Given the description of an element on the screen output the (x, y) to click on. 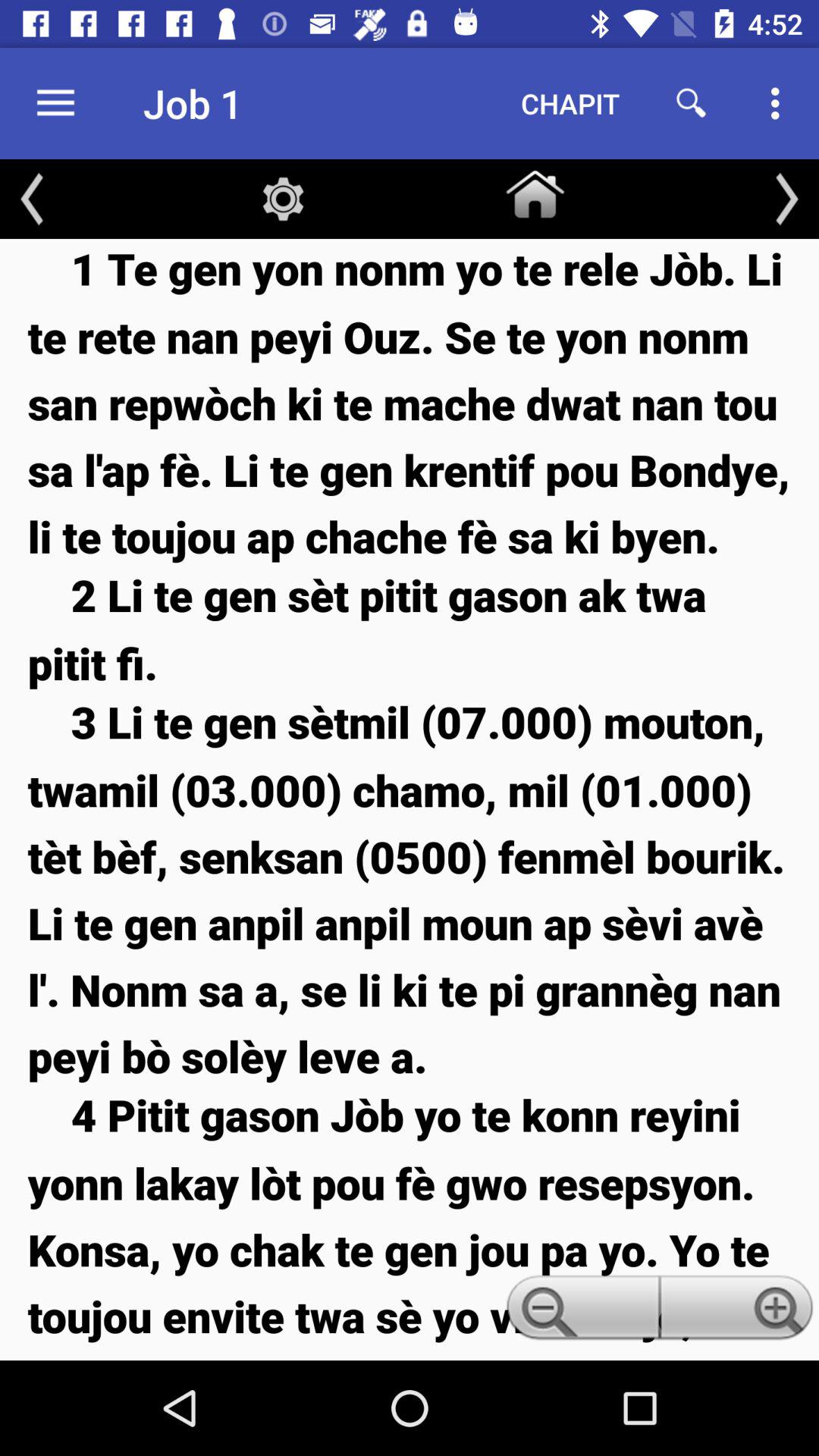
click the item next to job 1 (55, 103)
